Given the description of an element on the screen output the (x, y) to click on. 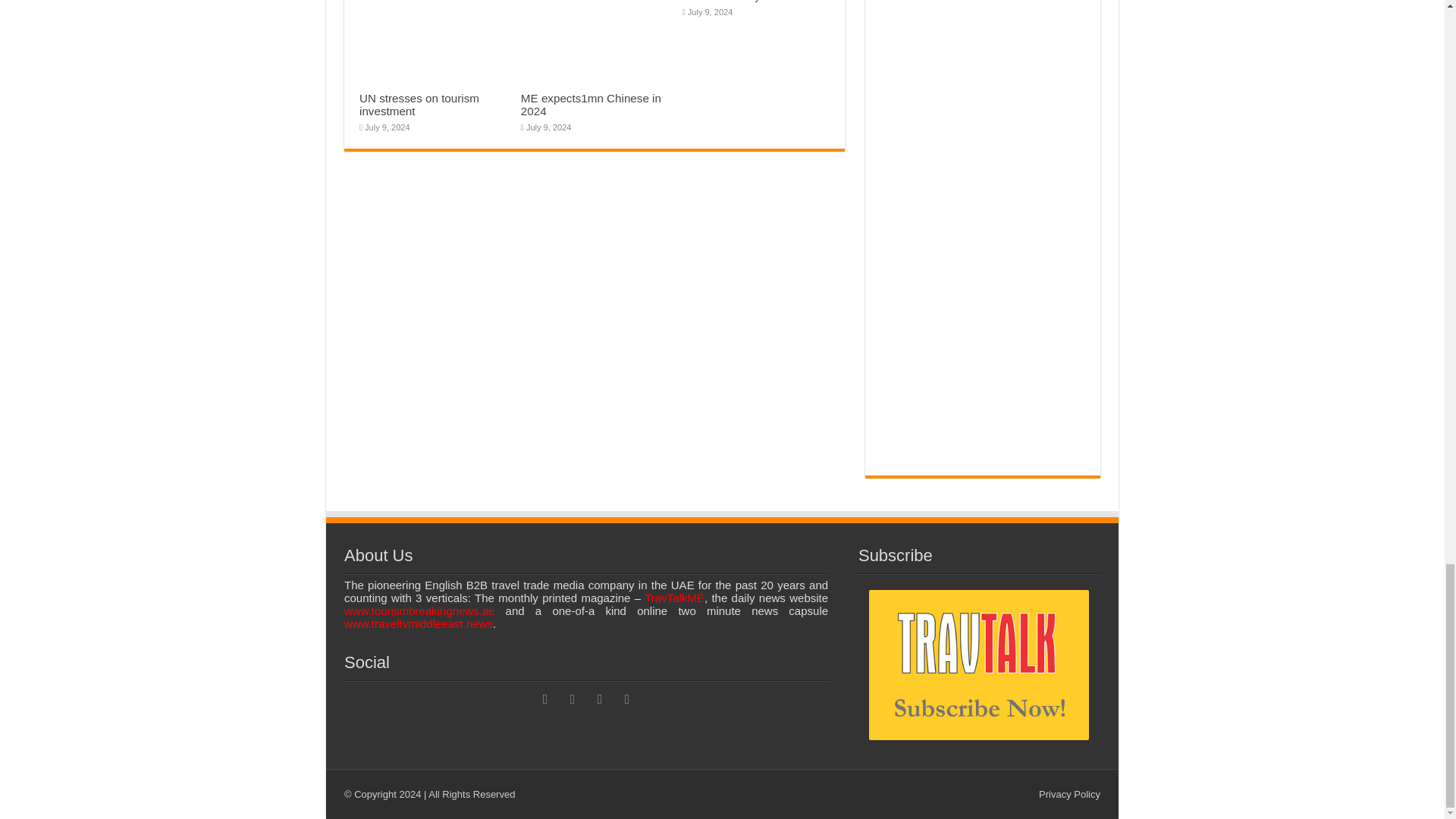
Rss (544, 699)
